Given the description of an element on the screen output the (x, y) to click on. 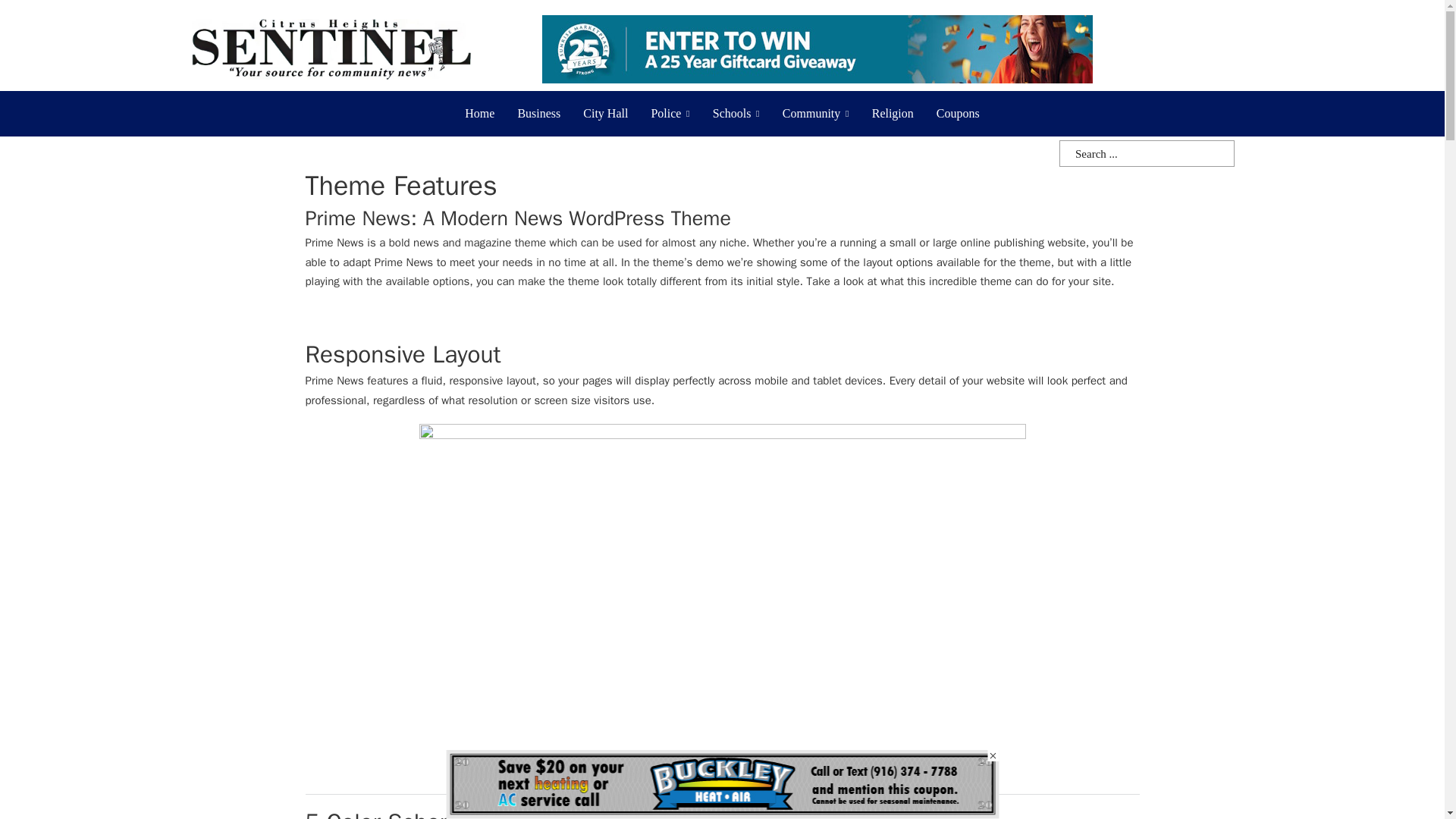
Coupons (957, 113)
Police (665, 113)
Schools (732, 113)
Home (479, 113)
Community (811, 113)
close (992, 755)
Business (538, 113)
City Hall (605, 113)
Religion (893, 113)
